Given the description of an element on the screen output the (x, y) to click on. 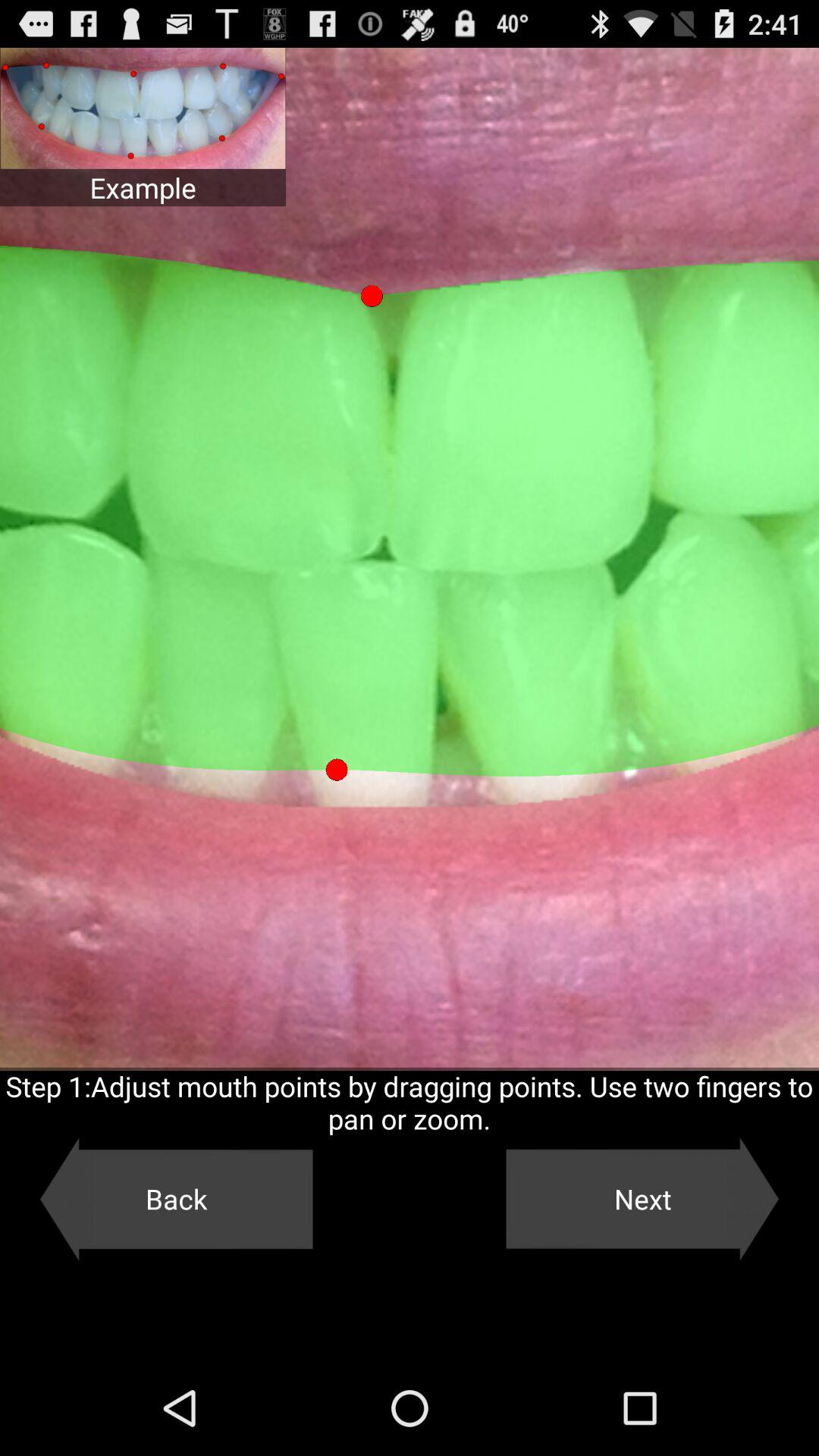
press the next at the bottom right corner (642, 1198)
